Given the description of an element on the screen output the (x, y) to click on. 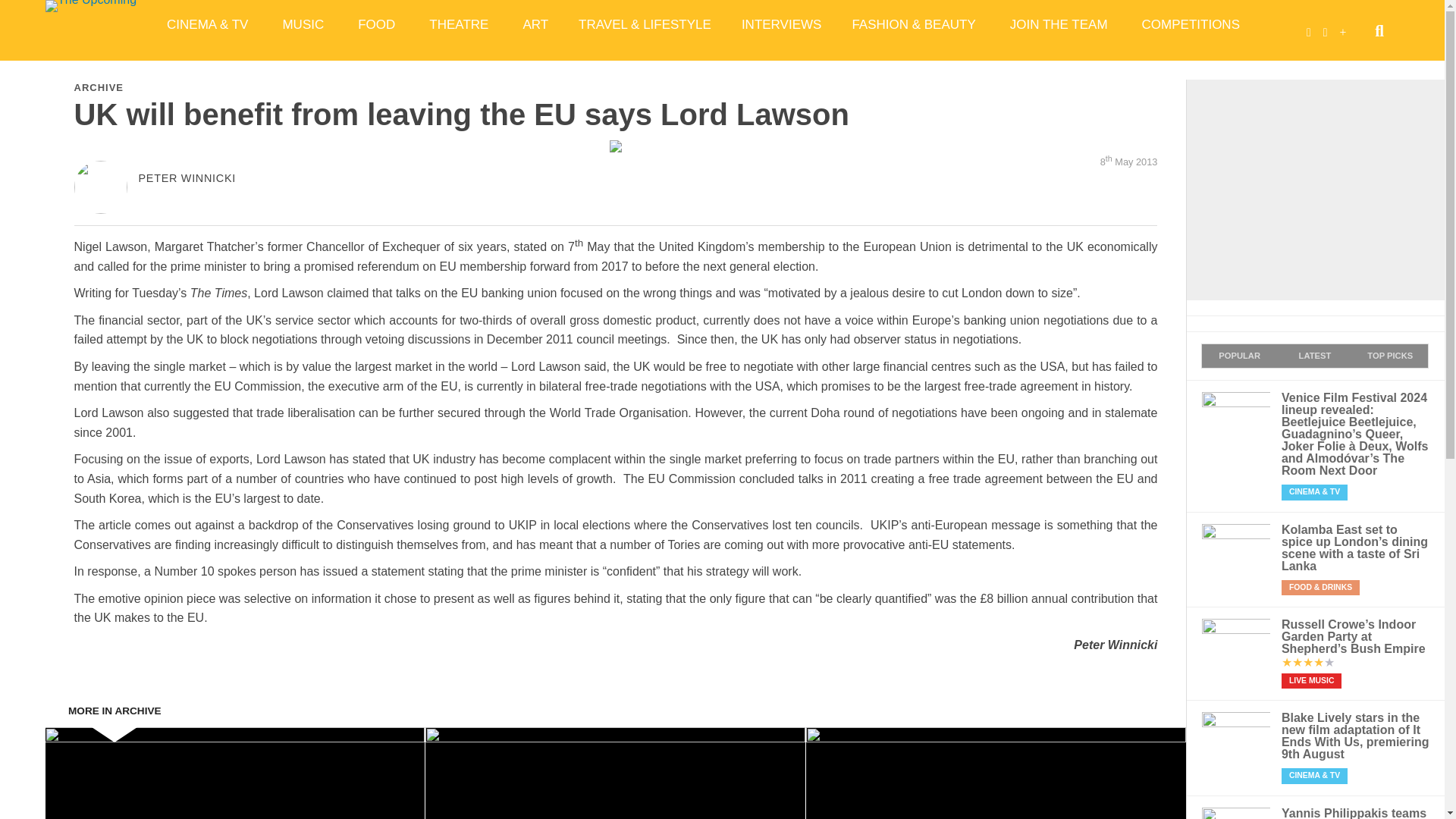
THEATRE (459, 24)
FOOD (377, 24)
MUSIC (304, 24)
JOIN THE TEAM (1060, 24)
ART (534, 24)
INTERVIEWS (780, 24)
